Given the description of an element on the screen output the (x, y) to click on. 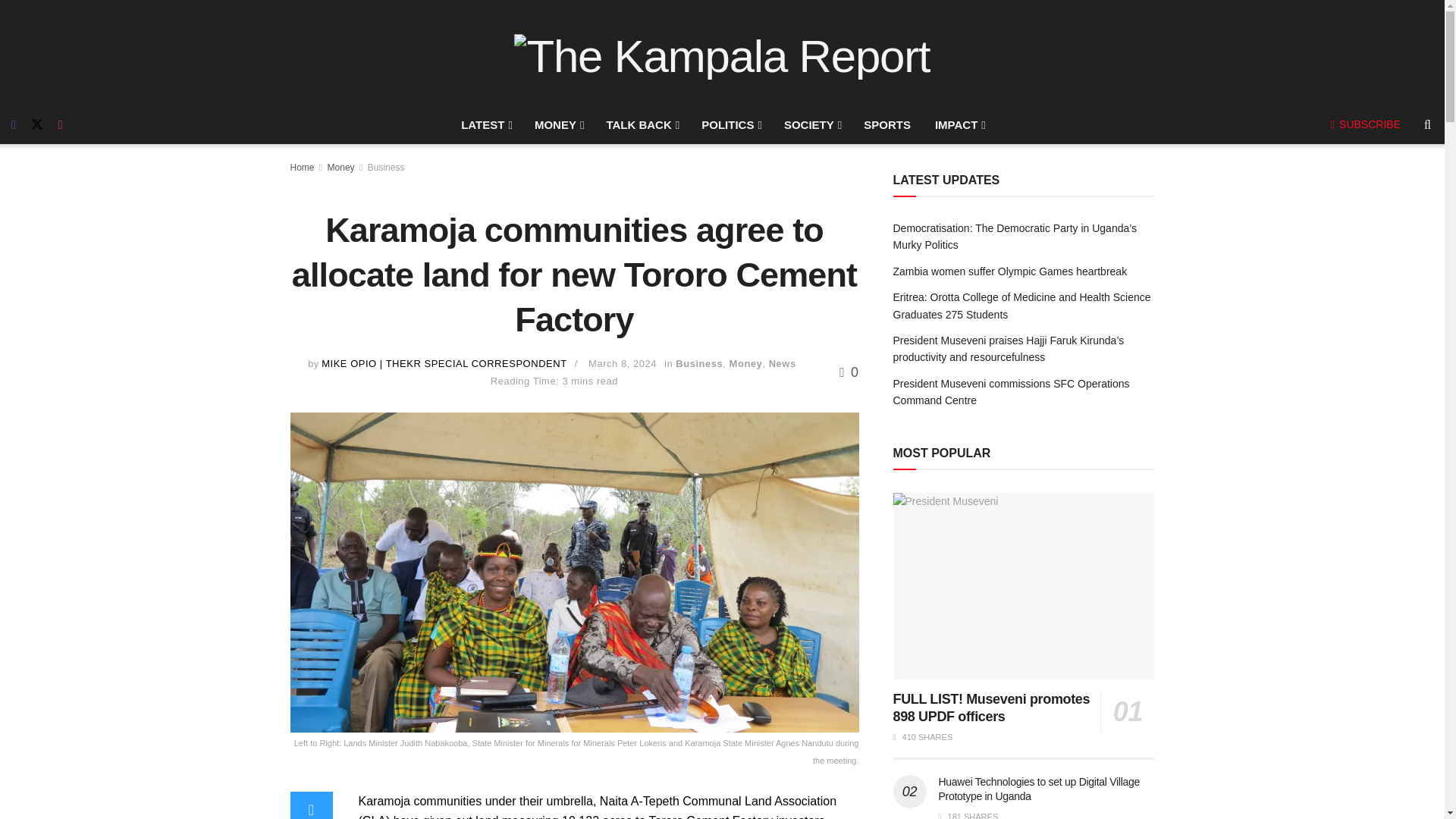
SUBSCRIBE (1365, 123)
POLITICS (729, 125)
MONEY (558, 125)
IMPACT (959, 125)
SOCIETY (811, 125)
SPORTS (887, 125)
LATEST (485, 125)
TALK BACK (641, 125)
